Given the description of an element on the screen output the (x, y) to click on. 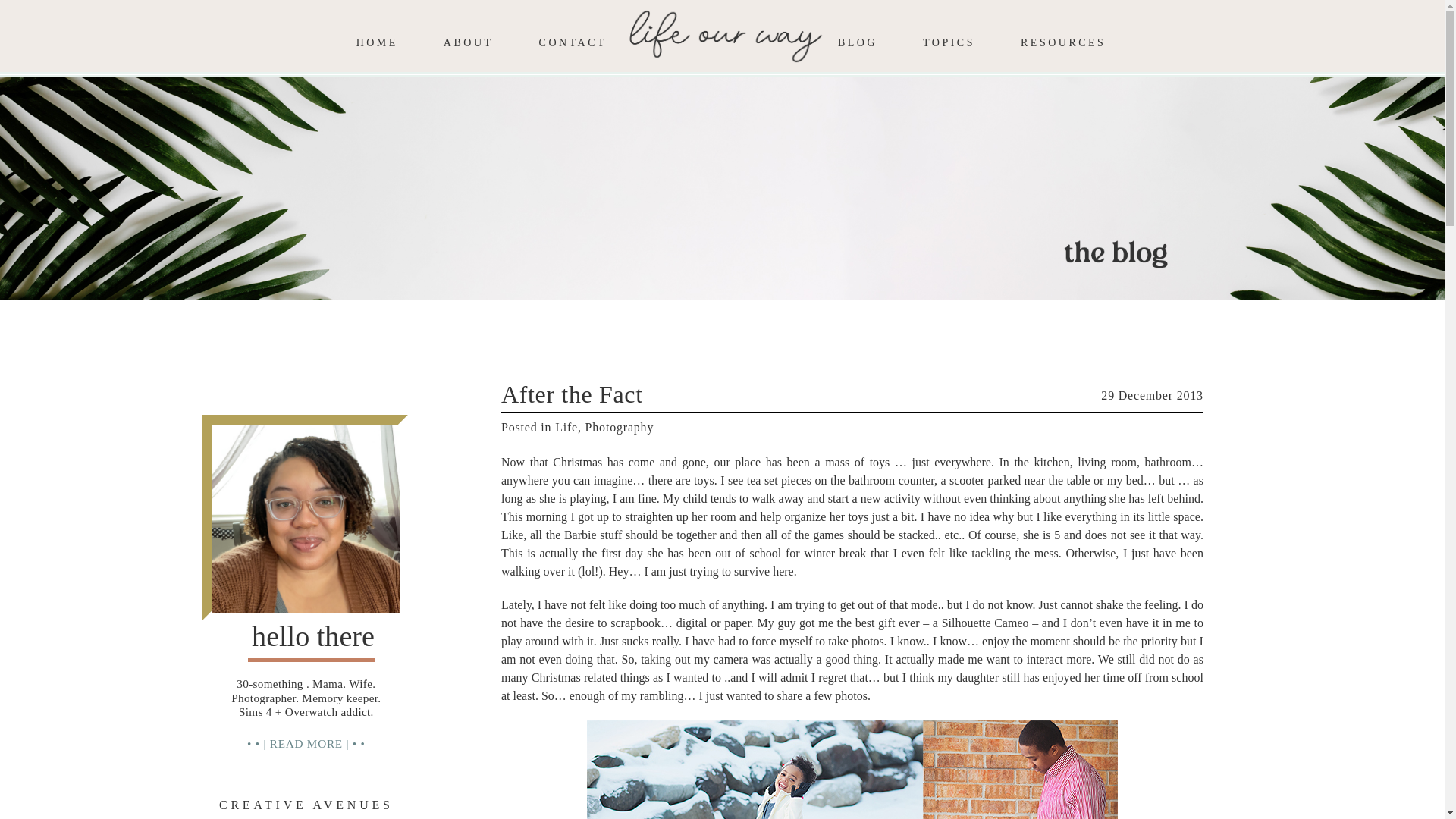
Life (566, 427)
Photography (619, 427)
BLOG (857, 42)
HOME (376, 42)
RESOURCES (1062, 42)
CONTACT (572, 42)
ABOUT (468, 42)
14dec2013-collage by tronesia, on Flickr (852, 769)
